Given the description of an element on the screen output the (x, y) to click on. 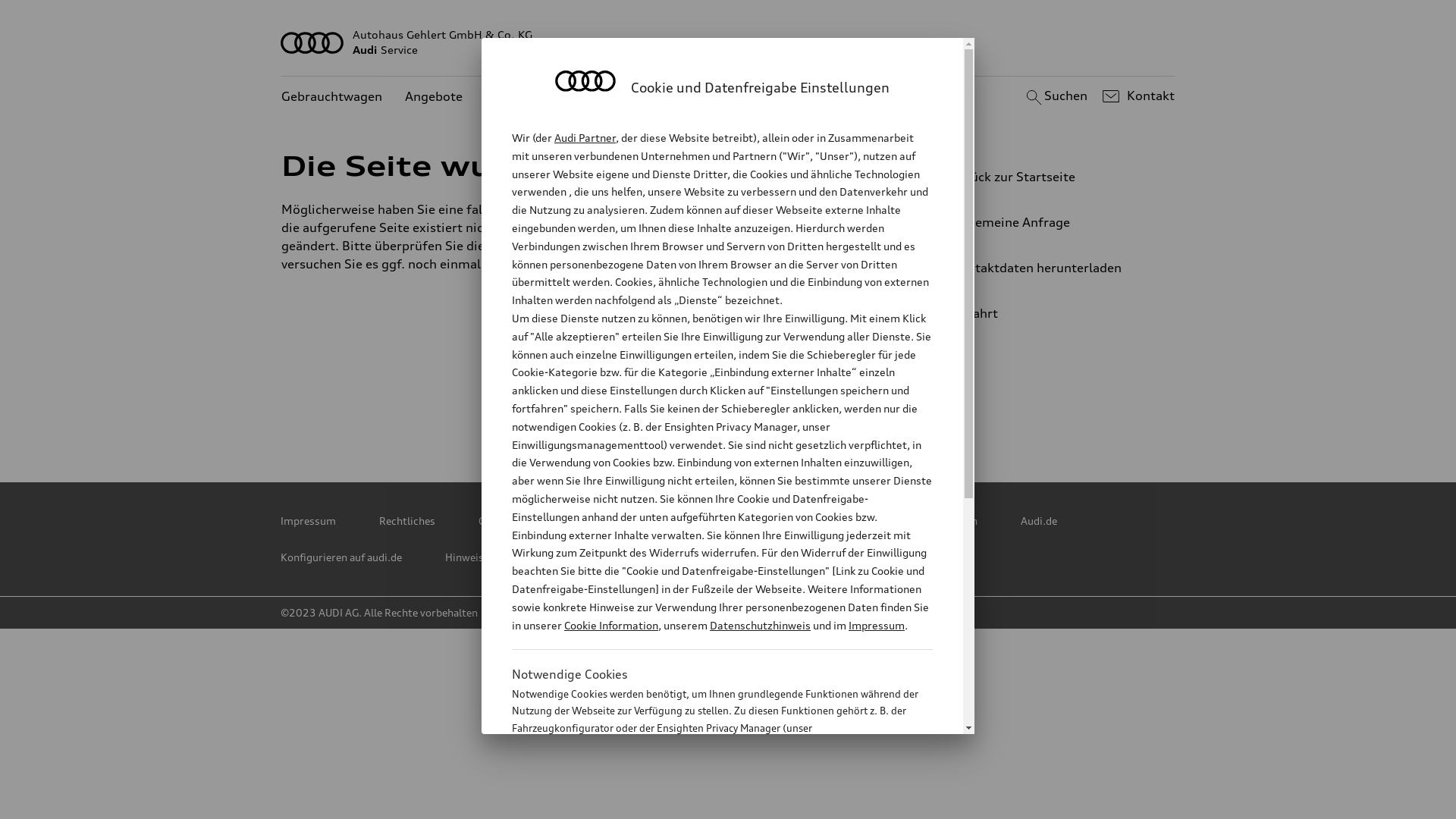
Datenschutzhinweis Element type: text (759, 624)
Gebrauchtwagen Element type: text (331, 96)
Impressum Element type: text (307, 520)
Angebote Element type: text (433, 96)
Impressum Element type: text (876, 624)
Autohaus Gehlert GmbH & Co. KG
AudiService Element type: text (727, 42)
Anfahrt Element type: text (1049, 313)
Audi.de Element type: text (1038, 520)
Suchen Element type: text (1054, 96)
Konfigurieren auf audi.de Element type: text (340, 557)
Copyright & Haftungsausschluss Element type: text (557, 520)
Cookie und Datenfreigabe Einstellungen Element type: text (881, 520)
Facebook Element type: hover (663, 410)
Cookie Information Element type: text (705, 802)
Cookie Information Element type: text (611, 624)
Hinweisgebersystem Element type: text (495, 557)
Rechtliches Element type: text (407, 520)
Allgemeine Anfrage Element type: text (1043, 222)
Kundenservice Element type: text (528, 96)
Kontaktdaten herunterladen Element type: text (1043, 267)
YouTube Element type: hover (730, 410)
Kontakt Element type: text (1135, 96)
Cookie Policy Element type: text (711, 520)
Audi Partner Element type: text (584, 137)
Instagram Element type: hover (796, 410)
